Given the description of an element on the screen output the (x, y) to click on. 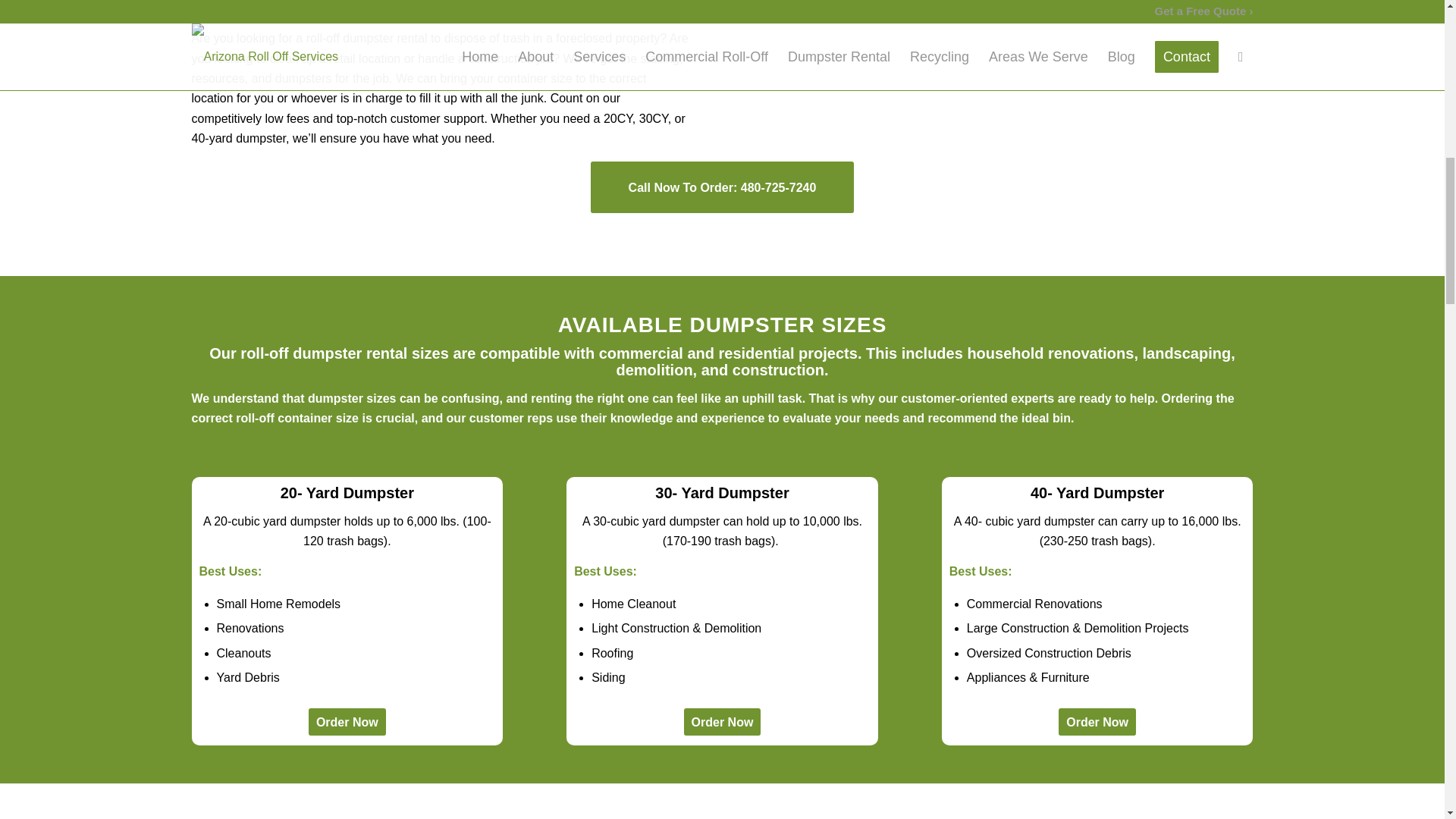
Order Now (346, 721)
Order Now (722, 721)
Get A Free Quote (909, 4)
Order Now (1096, 721)
Call Now To Order: 480-725-7240 (722, 186)
